Given the description of an element on the screen output the (x, y) to click on. 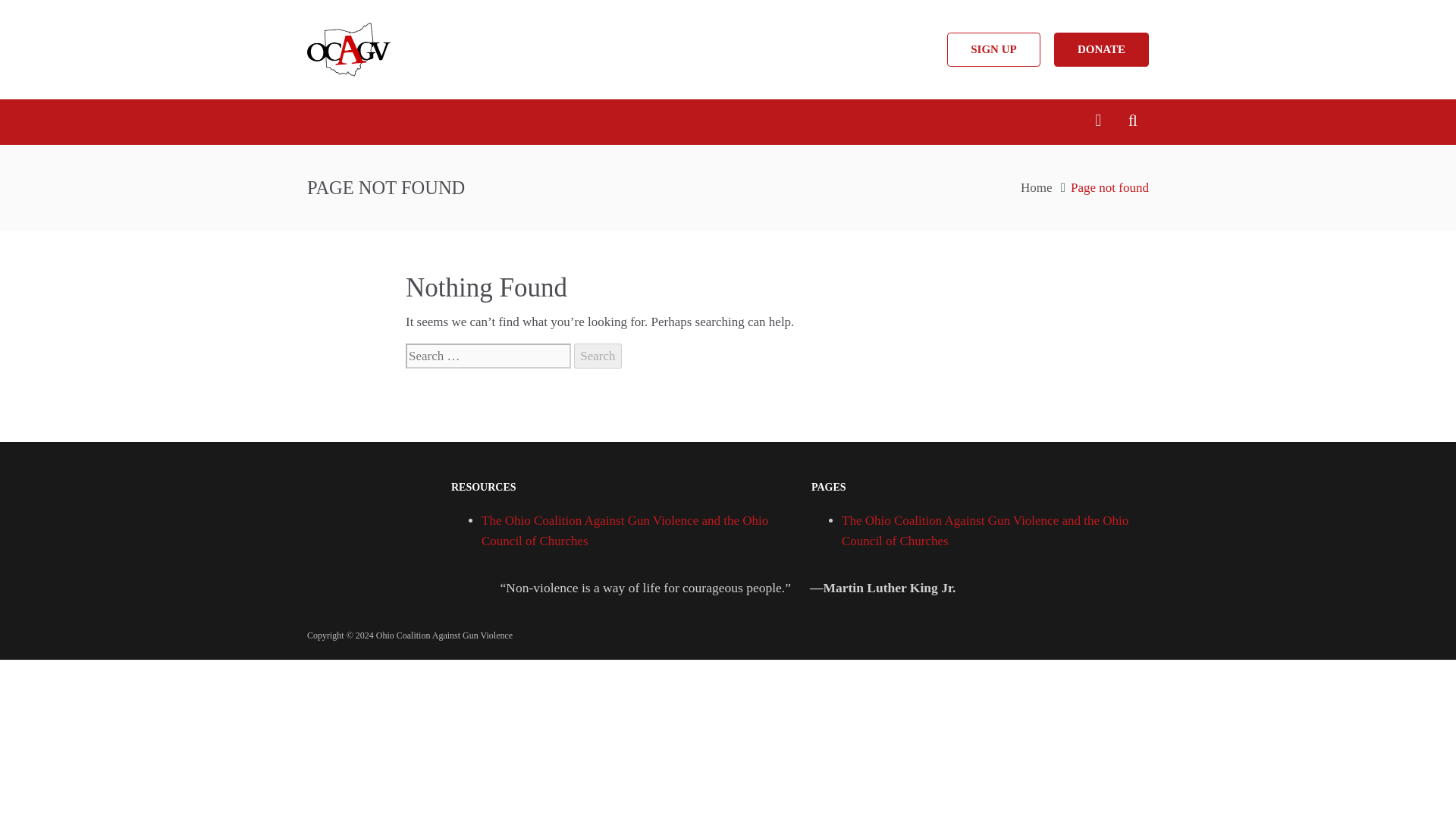
Search (597, 355)
SIGN UP (993, 49)
Search (597, 355)
Search (597, 355)
Home (1036, 187)
DONATE (1101, 49)
